Given the description of an element on the screen output the (x, y) to click on. 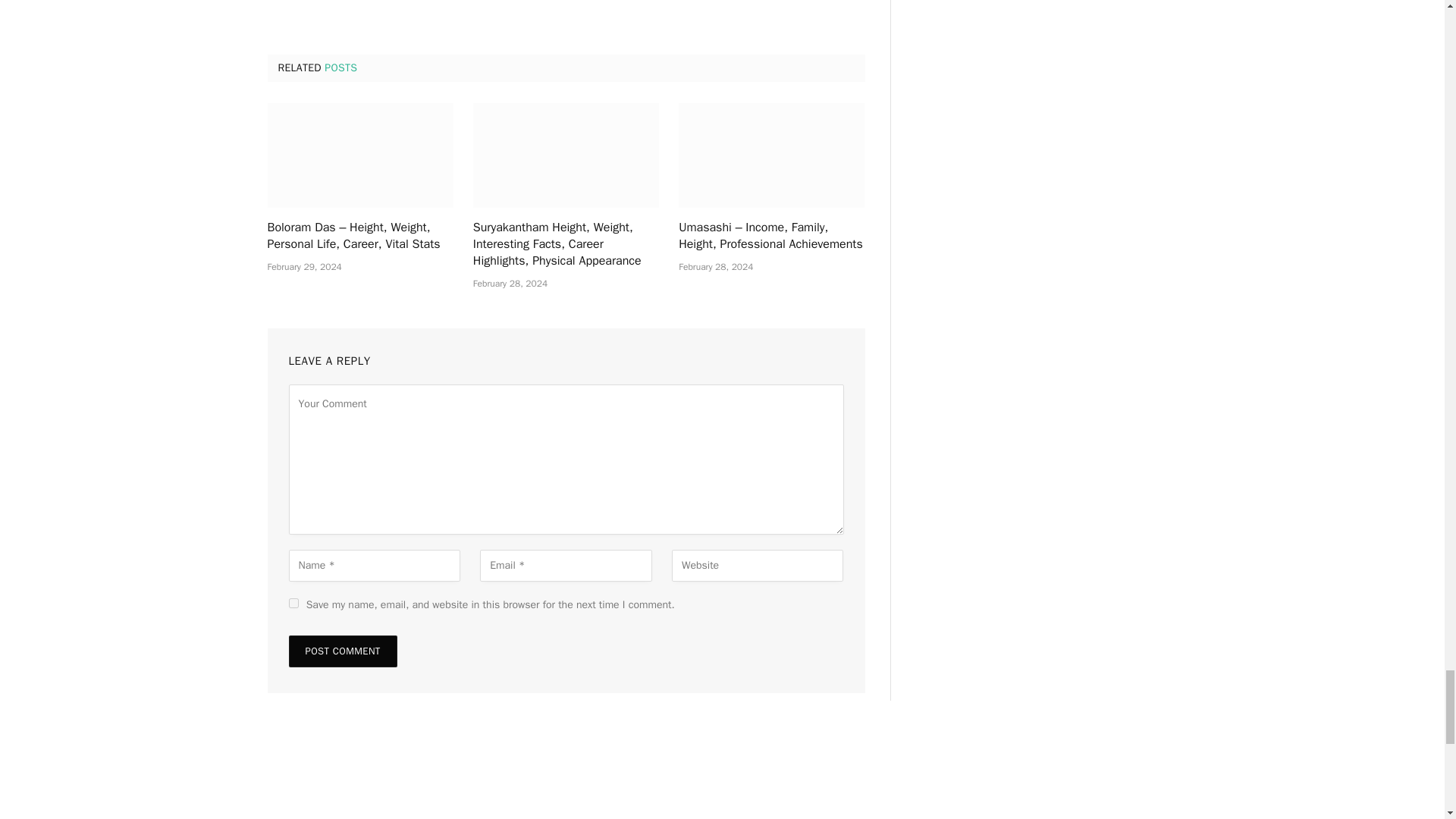
yes (293, 603)
Post Comment (342, 651)
